Given the description of an element on the screen output the (x, y) to click on. 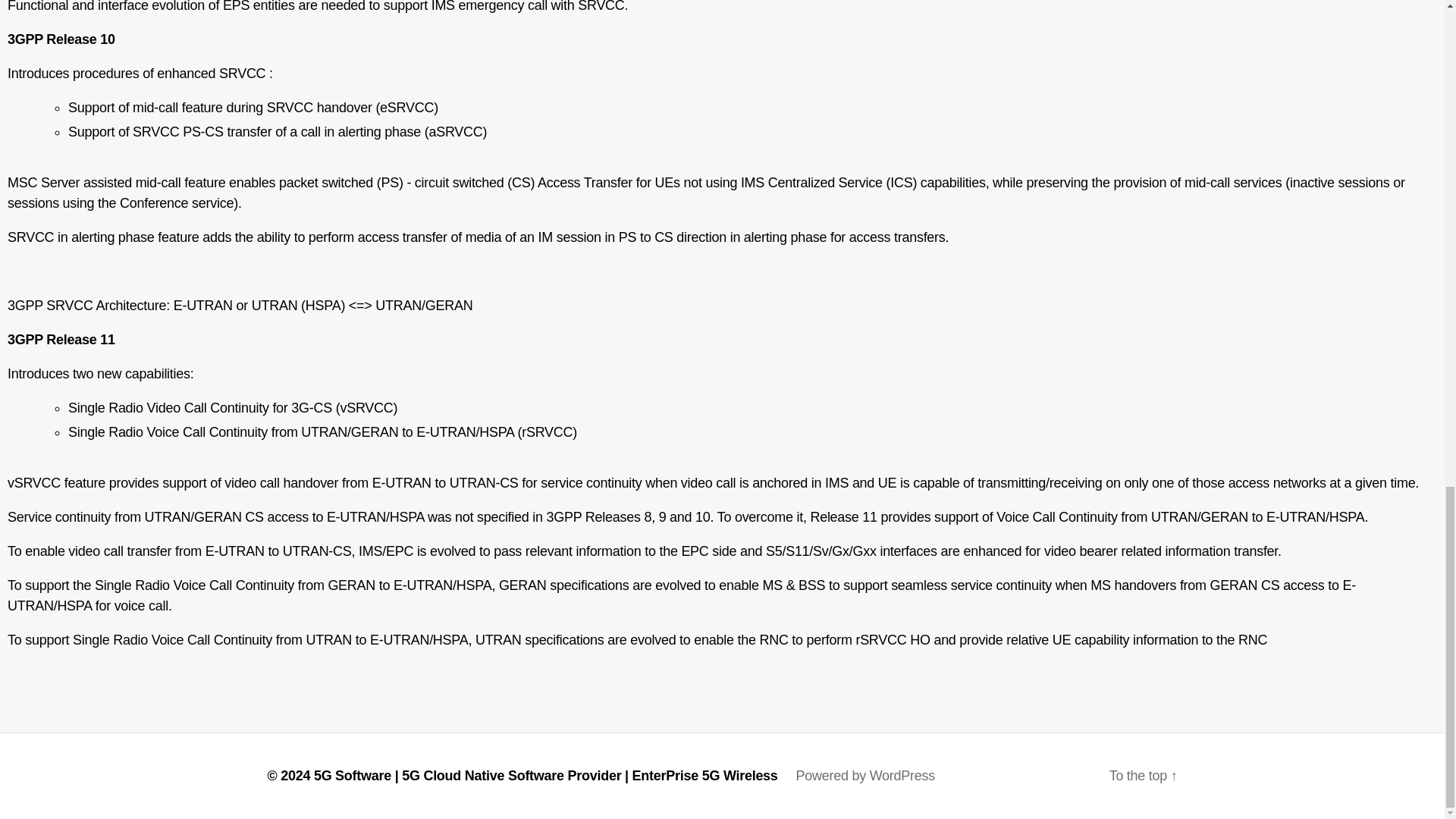
Powered by WordPress (865, 775)
